Given the description of an element on the screen output the (x, y) to click on. 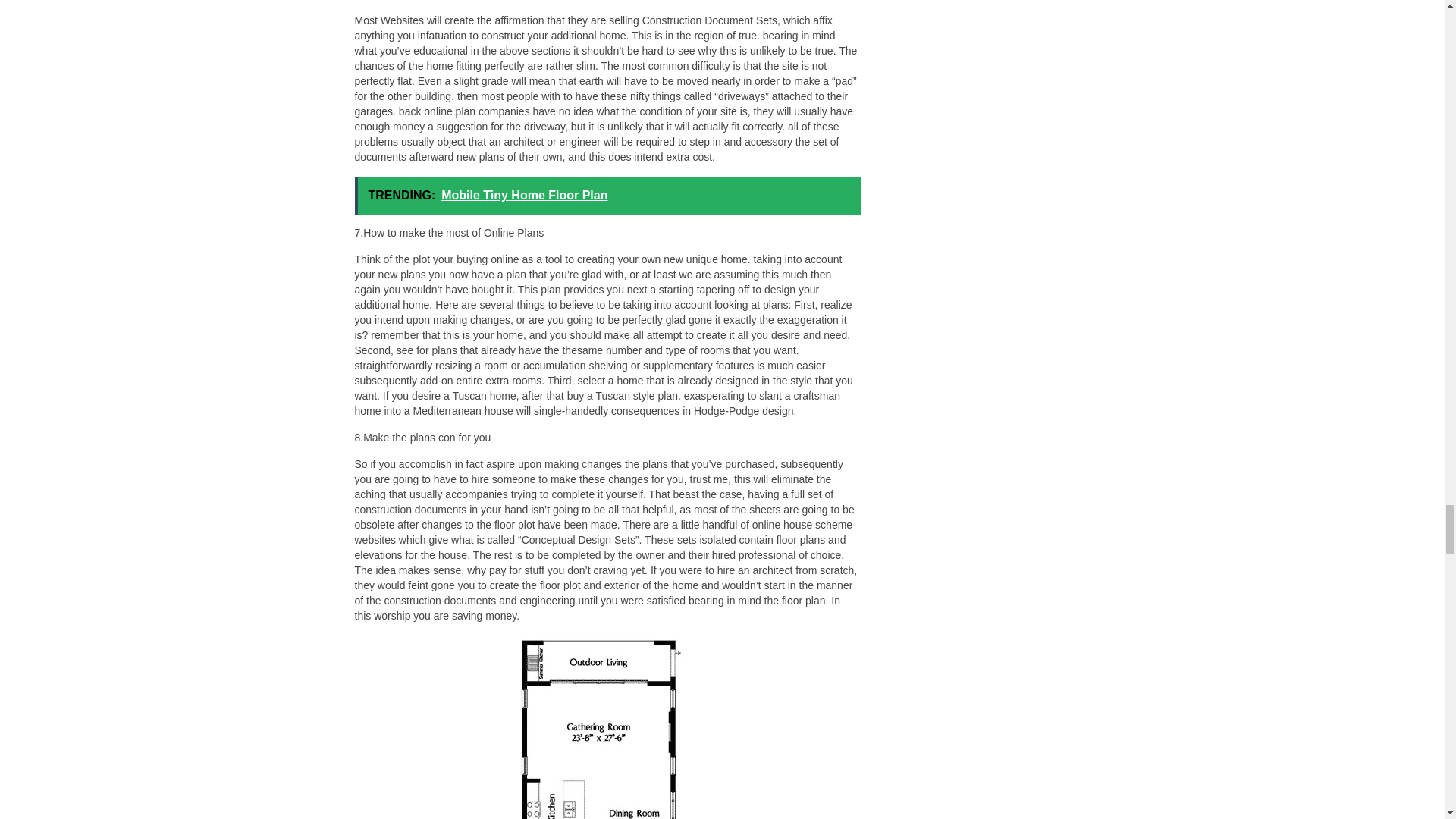
narrow lot mediterranean house plan 42823mj 2nd floor (605, 727)
TRENDING:  Mobile Tiny Home Floor Plan (608, 195)
